Given the description of an element on the screen output the (x, y) to click on. 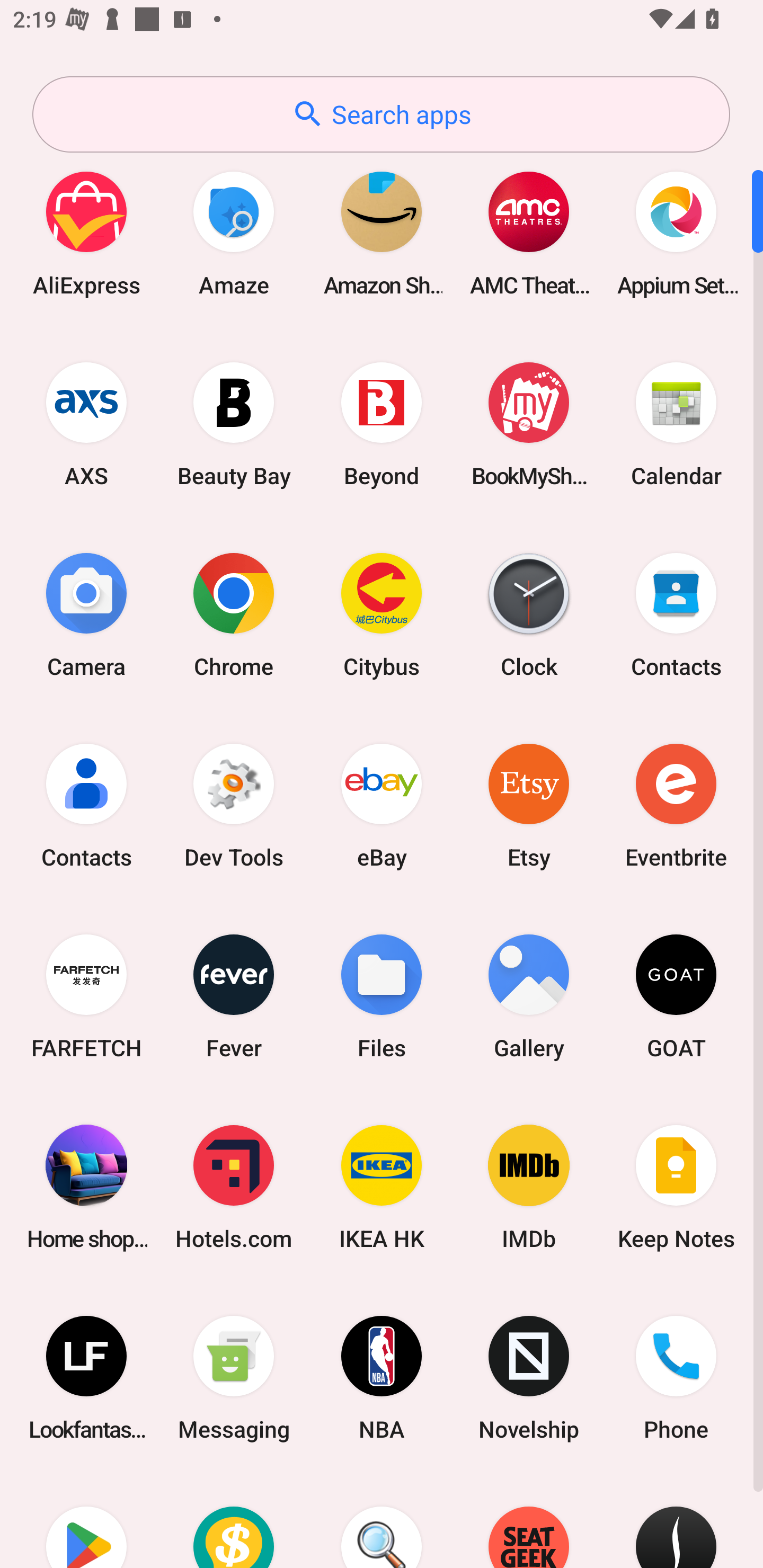
  Search apps (381, 114)
AliExpress (86, 233)
Amaze (233, 233)
Amazon Shopping (381, 233)
AMC Theatres (528, 233)
Appium Settings (676, 233)
AXS (86, 424)
Beauty Bay (233, 424)
Beyond (381, 424)
BookMyShow (528, 424)
Calendar (676, 424)
Camera (86, 614)
Chrome (233, 614)
Citybus (381, 614)
Clock (528, 614)
Contacts (676, 614)
Contacts (86, 805)
Dev Tools (233, 805)
eBay (381, 805)
Etsy (528, 805)
Eventbrite (676, 805)
FARFETCH (86, 996)
Fever (233, 996)
Files (381, 996)
Gallery (528, 996)
GOAT (676, 996)
Home shopping (86, 1186)
Hotels.com (233, 1186)
IKEA HK (381, 1186)
IMDb (528, 1186)
Keep Notes (676, 1186)
Lookfantastic (86, 1377)
Messaging (233, 1377)
NBA (381, 1377)
Novelship (528, 1377)
Phone (676, 1377)
Play Store (86, 1520)
Price (233, 1520)
Search (381, 1520)
SeatGeek (528, 1520)
Sephora (676, 1520)
